Given the description of an element on the screen output the (x, y) to click on. 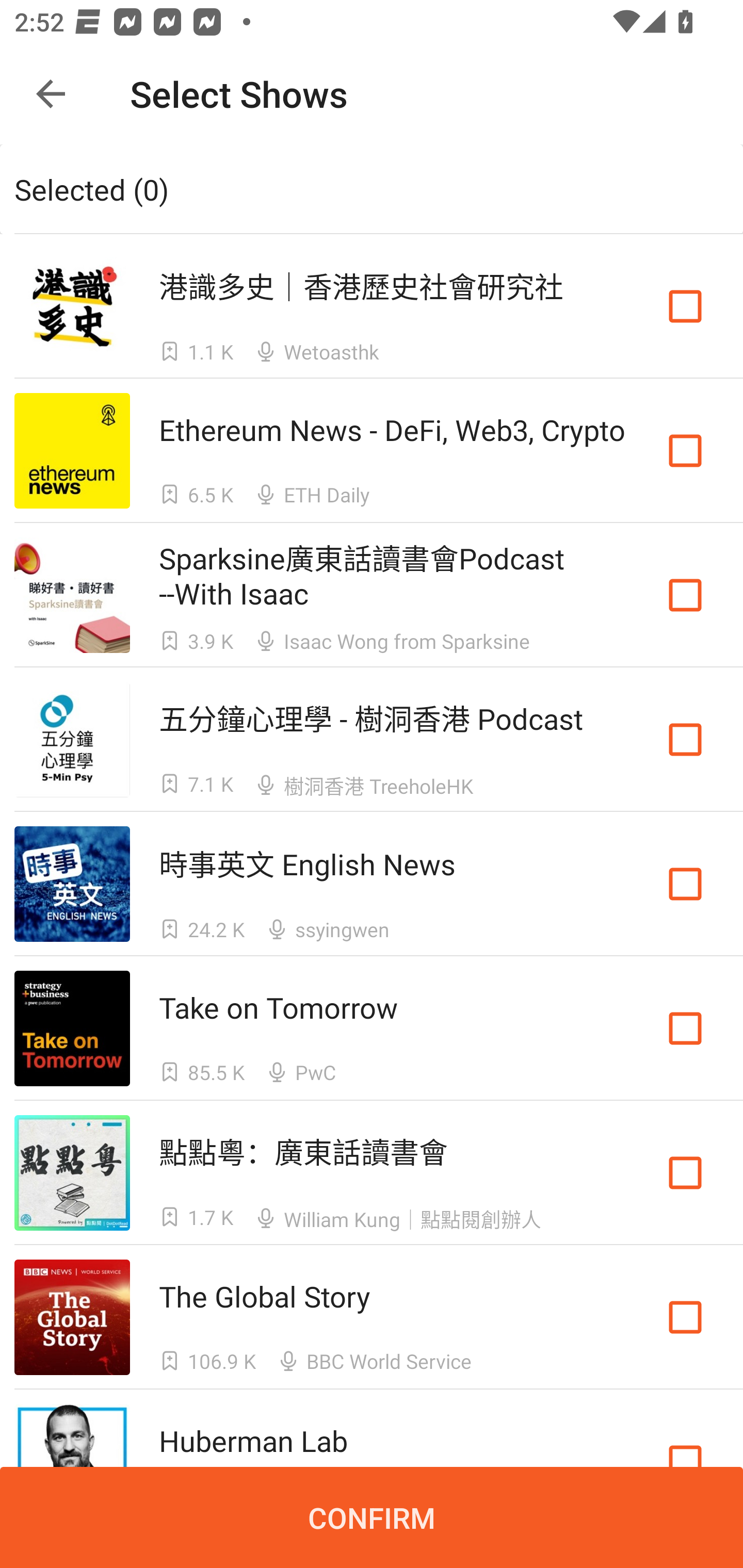
Navigate up (50, 93)
港識多史｜香港歷史社會研究社 港識多史｜香港歷史社會研究社  1.1 K  Wetoasthk (371, 305)
Take on Tomorrow Take on Tomorrow  85.5 K  PwC (371, 1028)
CONFIRM (371, 1517)
